Given the description of an element on the screen output the (x, y) to click on. 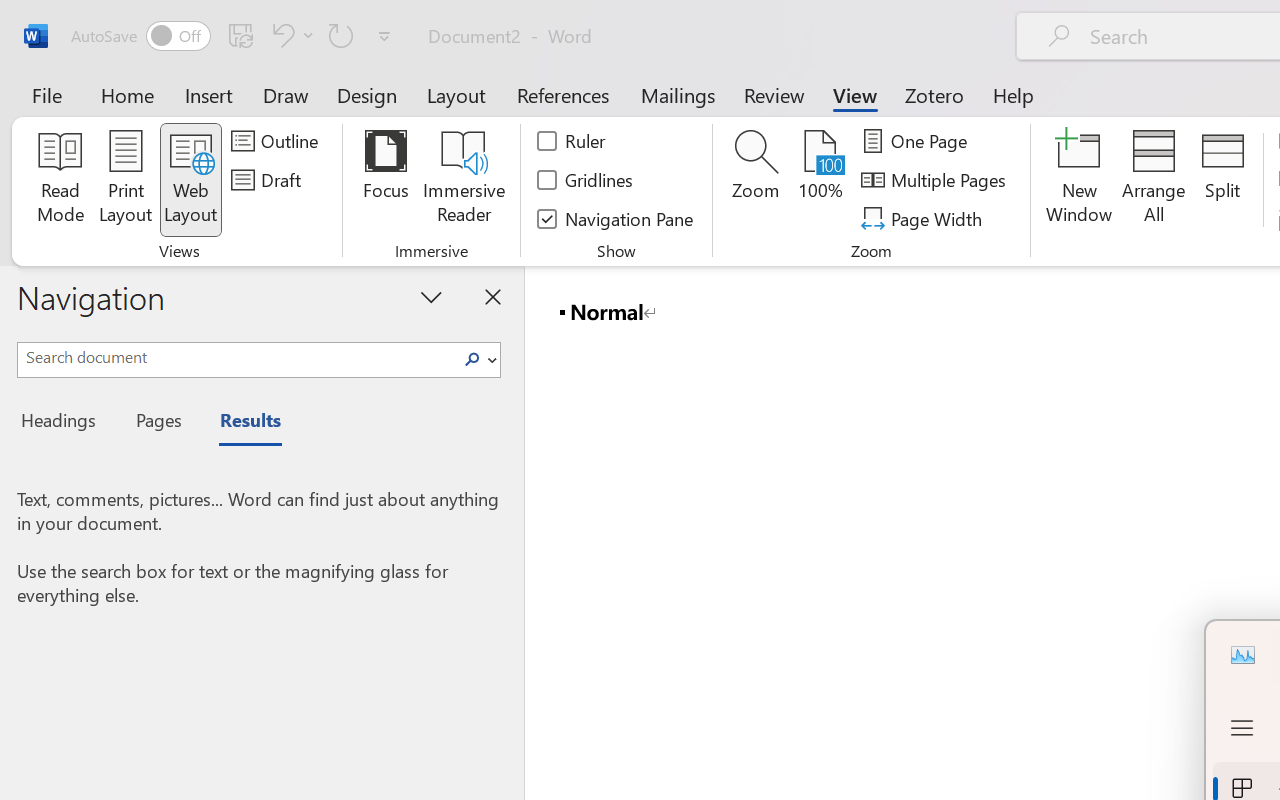
Undo <ApplyStyleToDoc>b__0 (280, 35)
100% (820, 179)
Page Width (924, 218)
Split (1222, 179)
Navigation Pane (616, 218)
Multiple Pages (936, 179)
